Given the description of an element on the screen output the (x, y) to click on. 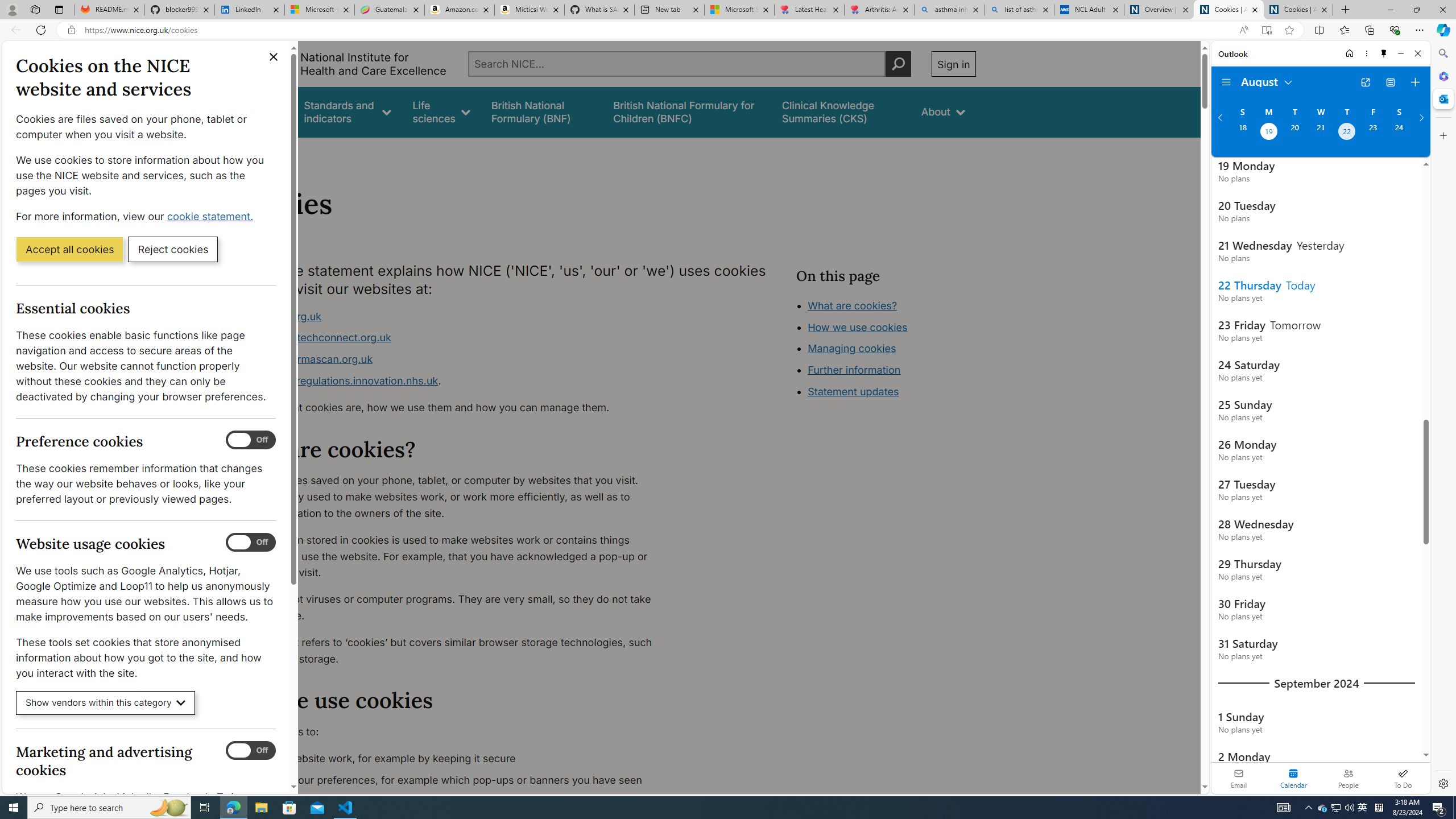
Show vendors within this category (105, 703)
Marketing and advertising cookies (250, 750)
Folder navigation (1225, 82)
Perform search (898, 63)
Close cookie banner (273, 56)
People (1347, 777)
Website usage cookies (250, 542)
